Given the description of an element on the screen output the (x, y) to click on. 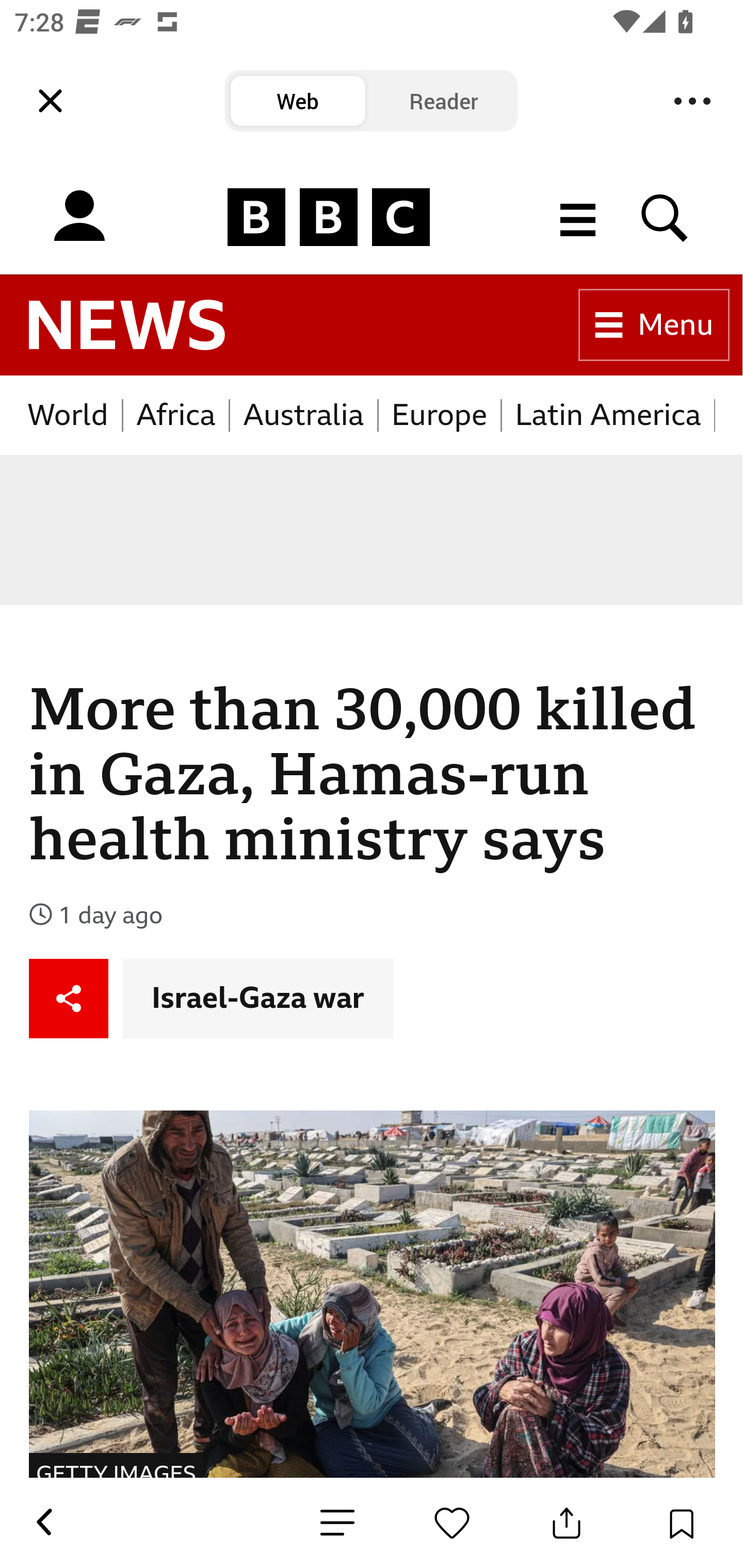
Leading Icon (50, 101)
Reader (443, 101)
Menu (692, 101)
Sign in (79, 216)
BBC Homepage (329, 216)
More menu (578, 216)
Search BBC (665, 216)
BBC News (126, 325)
Menu (654, 325)
World (69, 414)
Africa (176, 414)
Australia (303, 414)
Europe (439, 414)
Latin America (608, 414)
Share (68, 997)
Israel-Gaza war (257, 997)
Back Button (43, 1523)
News Detail Emotion (451, 1523)
Share Button (566, 1523)
Save Button (680, 1523)
News Detail Emotion (337, 1523)
